Given the description of an element on the screen output the (x, y) to click on. 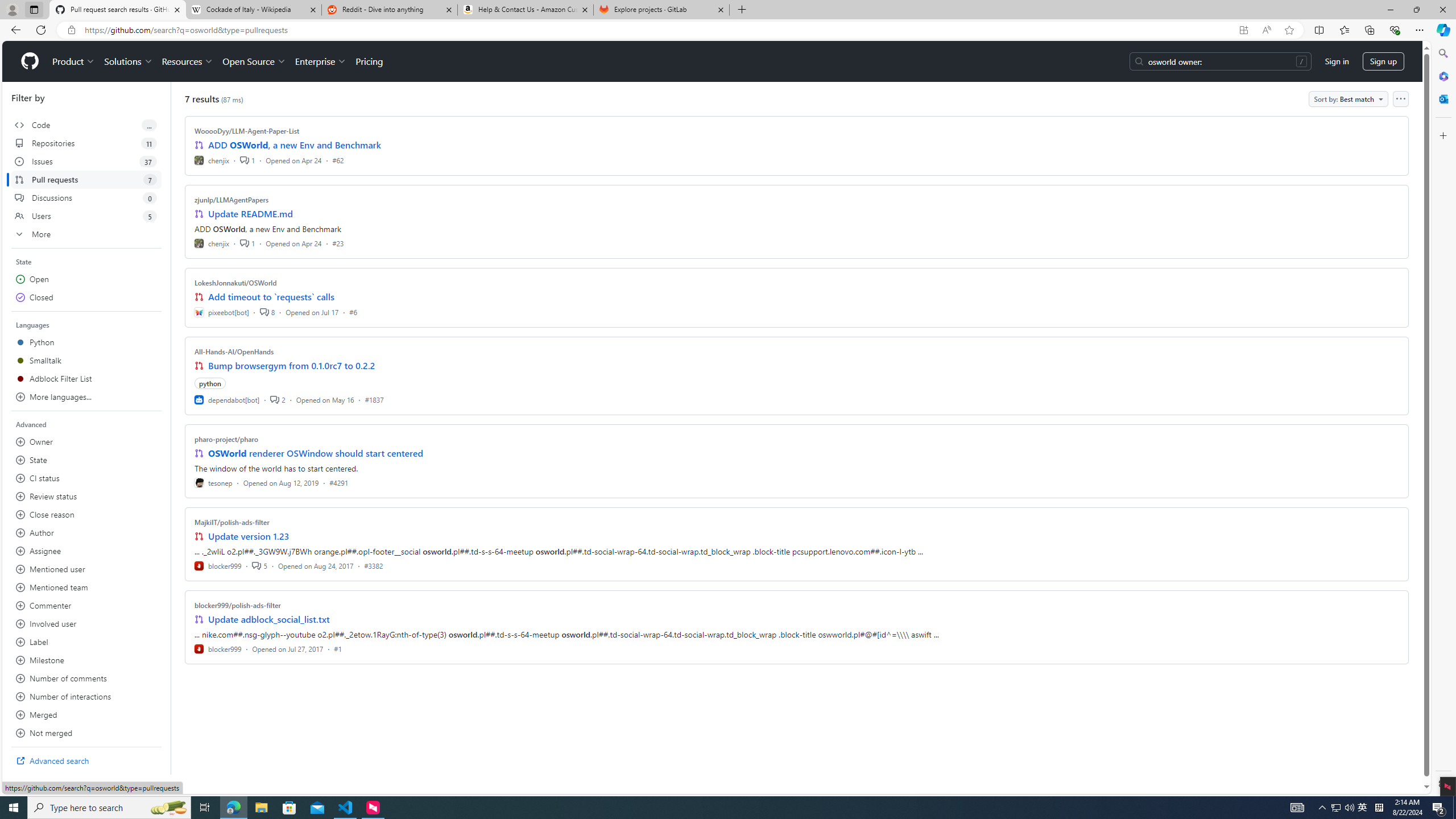
Open column options (1401, 98)
zjunlp/LLMAgentPapers (232, 199)
Sign up (1382, 61)
App available. Install GitHub (1243, 29)
More (86, 234)
#6 (352, 311)
